Given the description of an element on the screen output the (x, y) to click on. 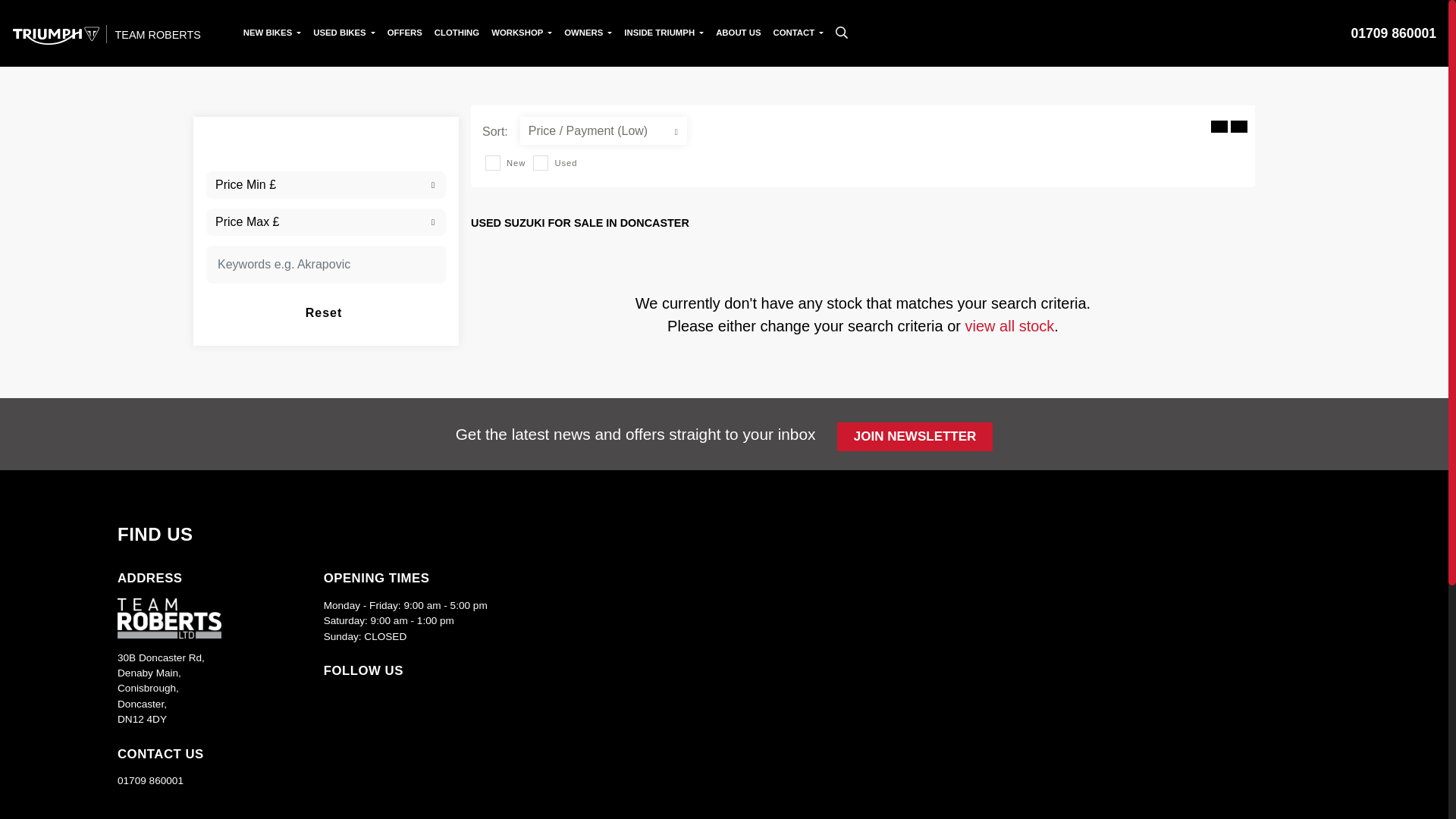
Clothing (456, 32)
Offers (404, 32)
NEW BIKES (272, 32)
INSIDE TRIUMPH (663, 32)
new (492, 162)
CLOTHING (456, 32)
TEAM ROBERTS (105, 33)
used (540, 162)
01709 860001 (1393, 32)
OFFERS (404, 32)
ABOUT US (738, 32)
CONTACT (798, 32)
WORKSHOP (520, 32)
USED BIKES (343, 32)
OWNERS (587, 32)
